Given the description of an element on the screen output the (x, y) to click on. 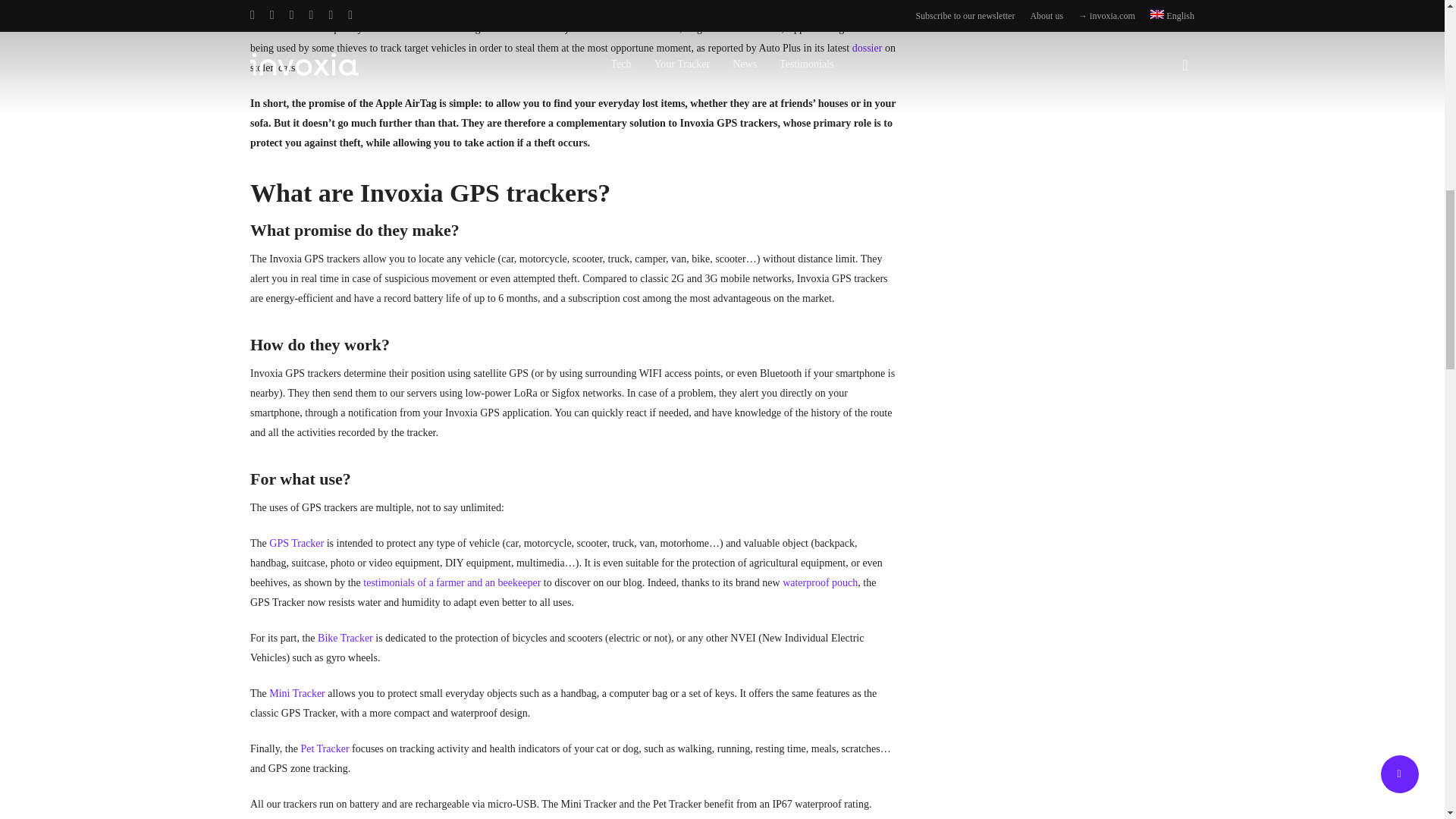
Pet Tracker (324, 748)
Mini Tracker (296, 693)
GPS Tracker (296, 542)
dossier (866, 48)
testimonials of a farmer and an beekeeper (451, 582)
waterproof pouch (820, 582)
Bike Tracker (344, 637)
